Given the description of an element on the screen output the (x, y) to click on. 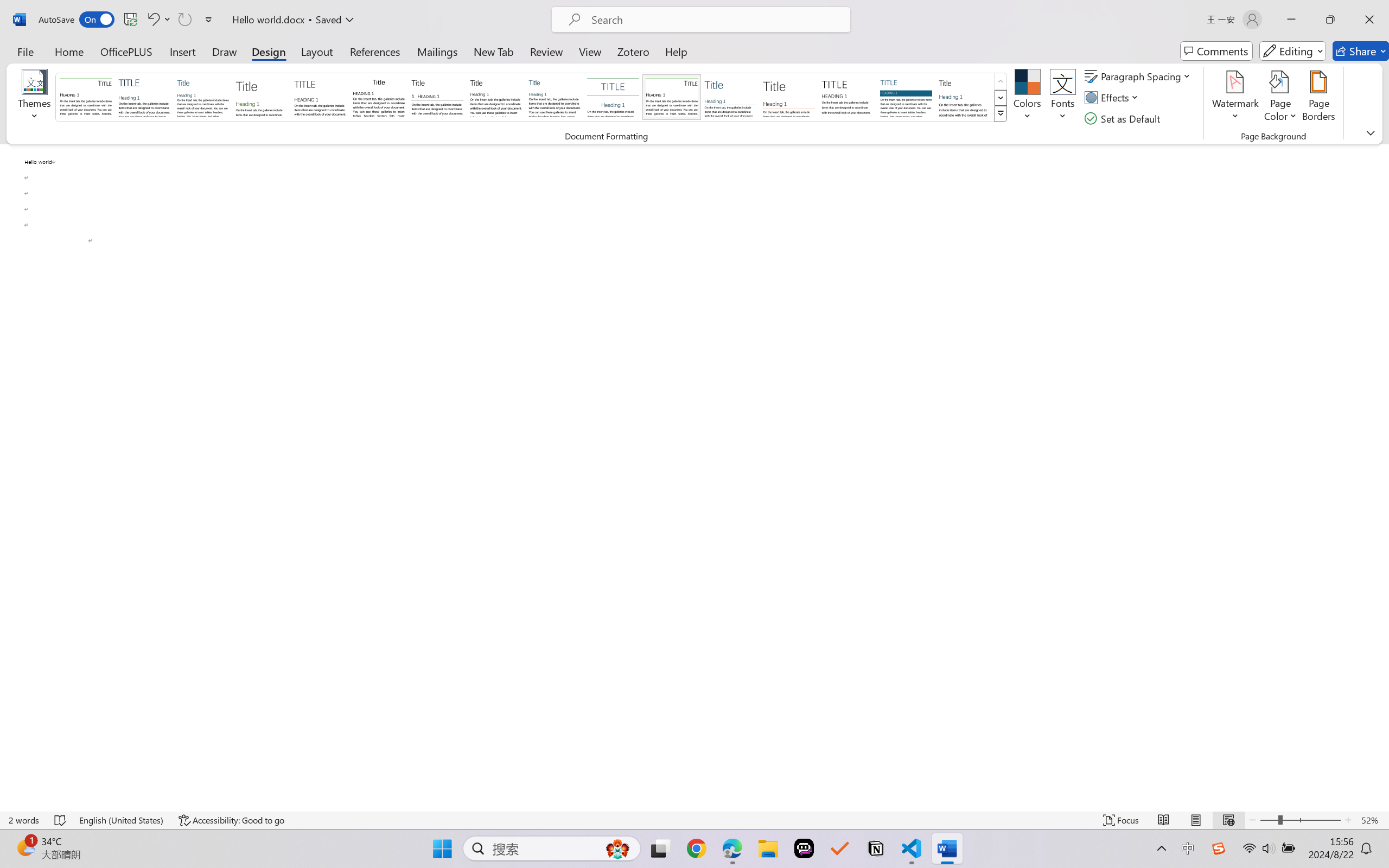
Black & White (Classic) (379, 96)
Save (130, 19)
Style Set (1000, 113)
Page Color (1280, 97)
References (375, 51)
Quick Access Toolbar (127, 19)
AutoSave (76, 19)
Row Down (1000, 97)
Home (69, 51)
Paragraph Spacing (1139, 75)
Watermark (1235, 97)
Word (964, 96)
Class: Image (1218, 847)
Lines (Stylish) (788, 96)
